Given the description of an element on the screen output the (x, y) to click on. 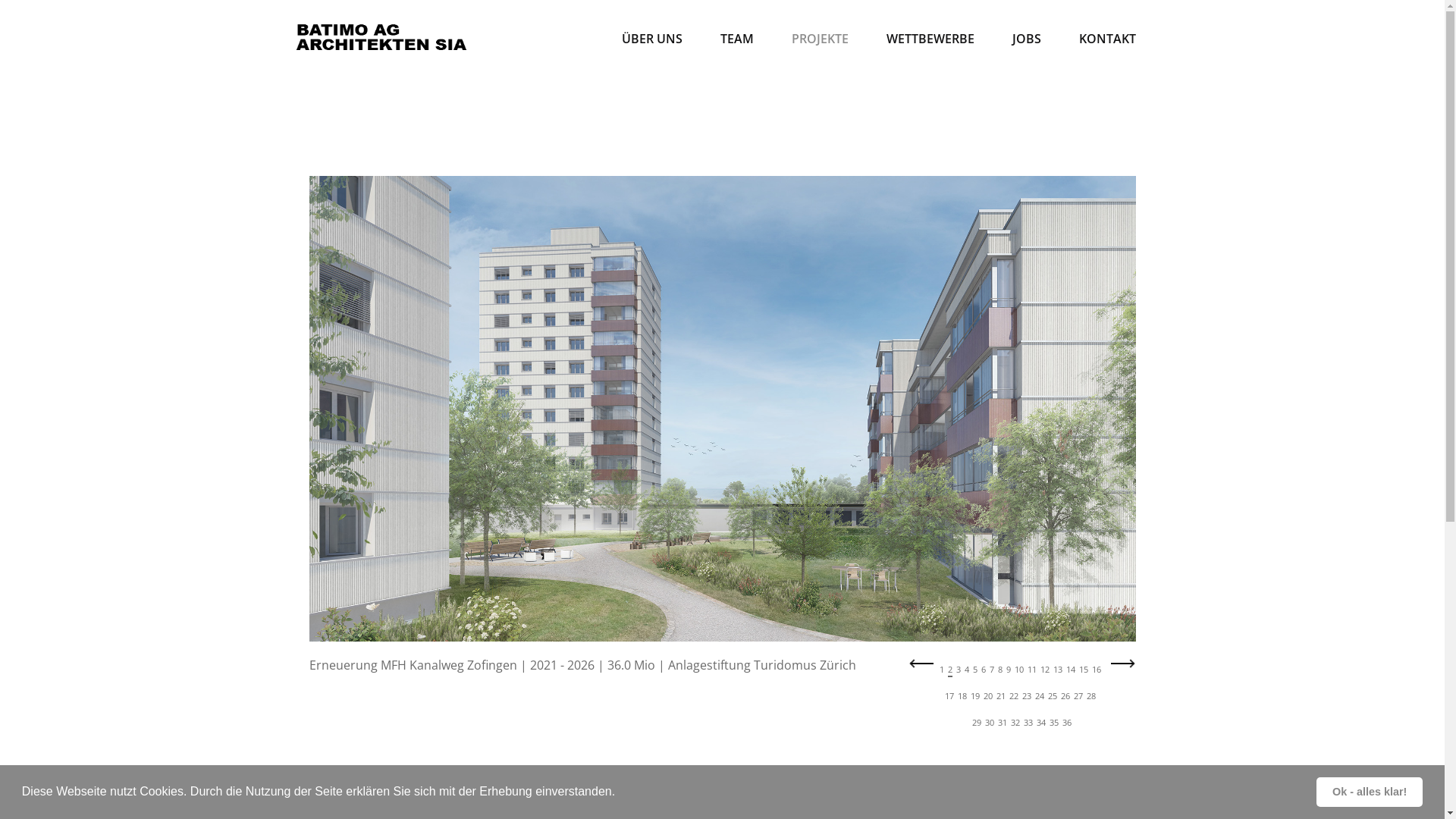
28 Element type: text (1090, 696)
12 Element type: text (1044, 670)
KONTAKT Element type: text (1107, 38)
8 Element type: text (999, 670)
27 Element type: text (1077, 696)
3 Element type: text (957, 670)
19 Element type: text (974, 696)
16 Element type: text (1096, 670)
4 Element type: text (966, 670)
21 Element type: text (1000, 696)
1 Element type: text (940, 670)
36 Element type: text (1066, 723)
17 Element type: text (948, 696)
29 Element type: text (976, 723)
34 Element type: text (1040, 723)
5 Element type: text (974, 670)
7 Element type: text (990, 670)
23 Element type: text (1026, 696)
6 Element type: text (983, 670)
35 Element type: text (1053, 723)
PROJEKTE Element type: text (819, 38)
26 Element type: text (1064, 696)
30 Element type: text (989, 723)
JOBS Element type: text (1026, 38)
20 Element type: text (986, 696)
22 Element type: text (1012, 696)
TEAM Element type: text (736, 38)
13 Element type: text (1056, 670)
15 Element type: text (1082, 670)
18 Element type: text (961, 696)
Weiter Element type: text (1122, 667)
10 Element type: text (1018, 670)
9 Element type: text (1007, 670)
WETTBEWERBE Element type: text (930, 38)
Batimo_AG_Architekten_SIA_Kanalweg_Zofingen Element type: hover (722, 407)
14 Element type: text (1070, 670)
24 Element type: text (1038, 696)
Ok - alles klar! Element type: text (1369, 791)
31 Element type: text (1002, 723)
32 Element type: text (1014, 723)
11 Element type: text (1030, 670)
33 Element type: text (1027, 723)
25 Element type: text (1052, 696)
2 Element type: text (949, 670)
